Given the description of an element on the screen output the (x, y) to click on. 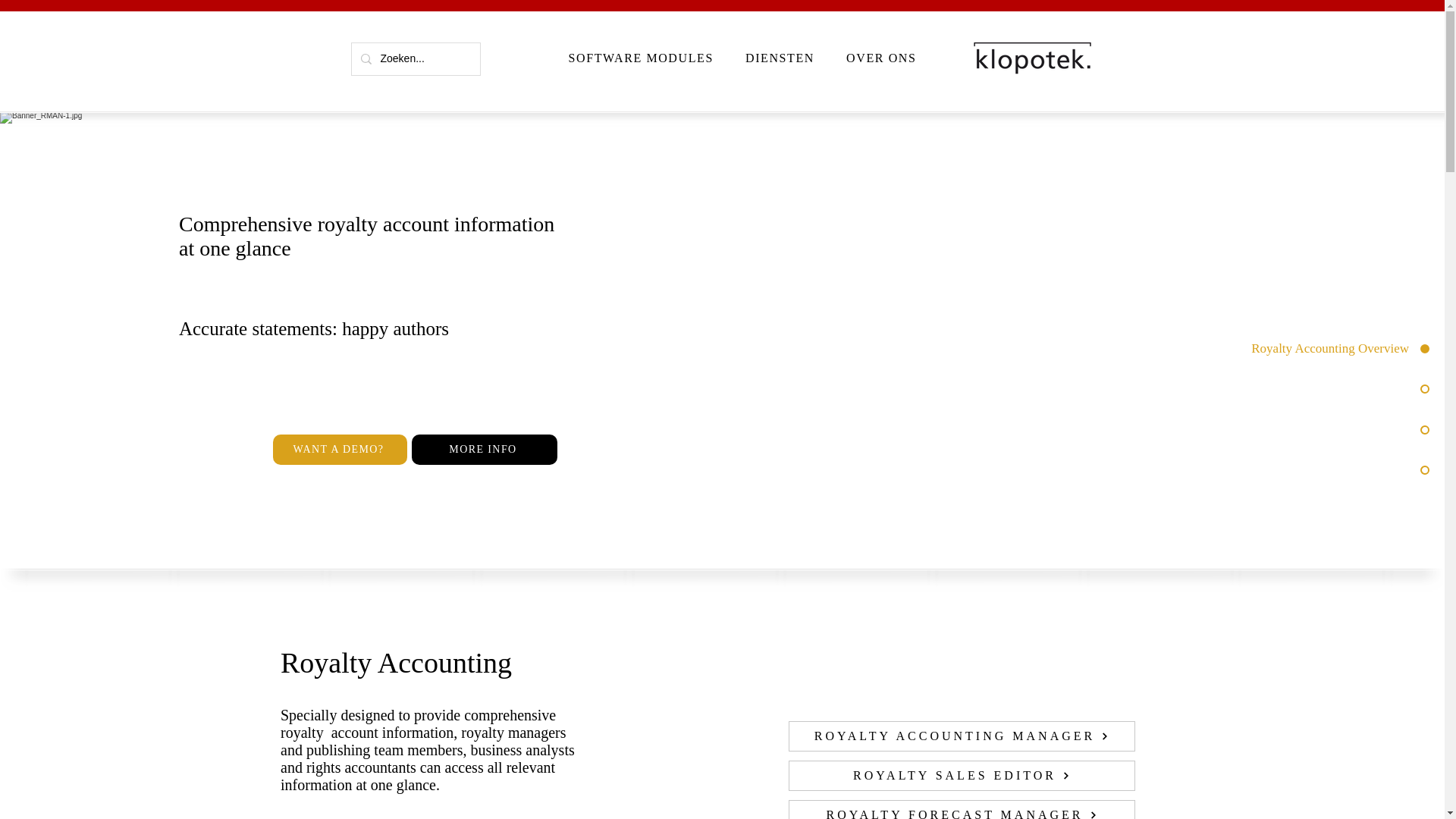
OVER ONS (880, 58)
ROYALTY ACCOUNTING MANAGER (962, 736)
SOFTWARE MODULES (639, 58)
ROYALTY SALES EDITOR (962, 775)
Royalty Accounting Overview (1311, 348)
WANT A DEMO? (340, 449)
MORE INFO (741, 58)
DIENSTEN (484, 449)
ROYALTY FORECAST MANAGER (779, 58)
